Given the description of an element on the screen output the (x, y) to click on. 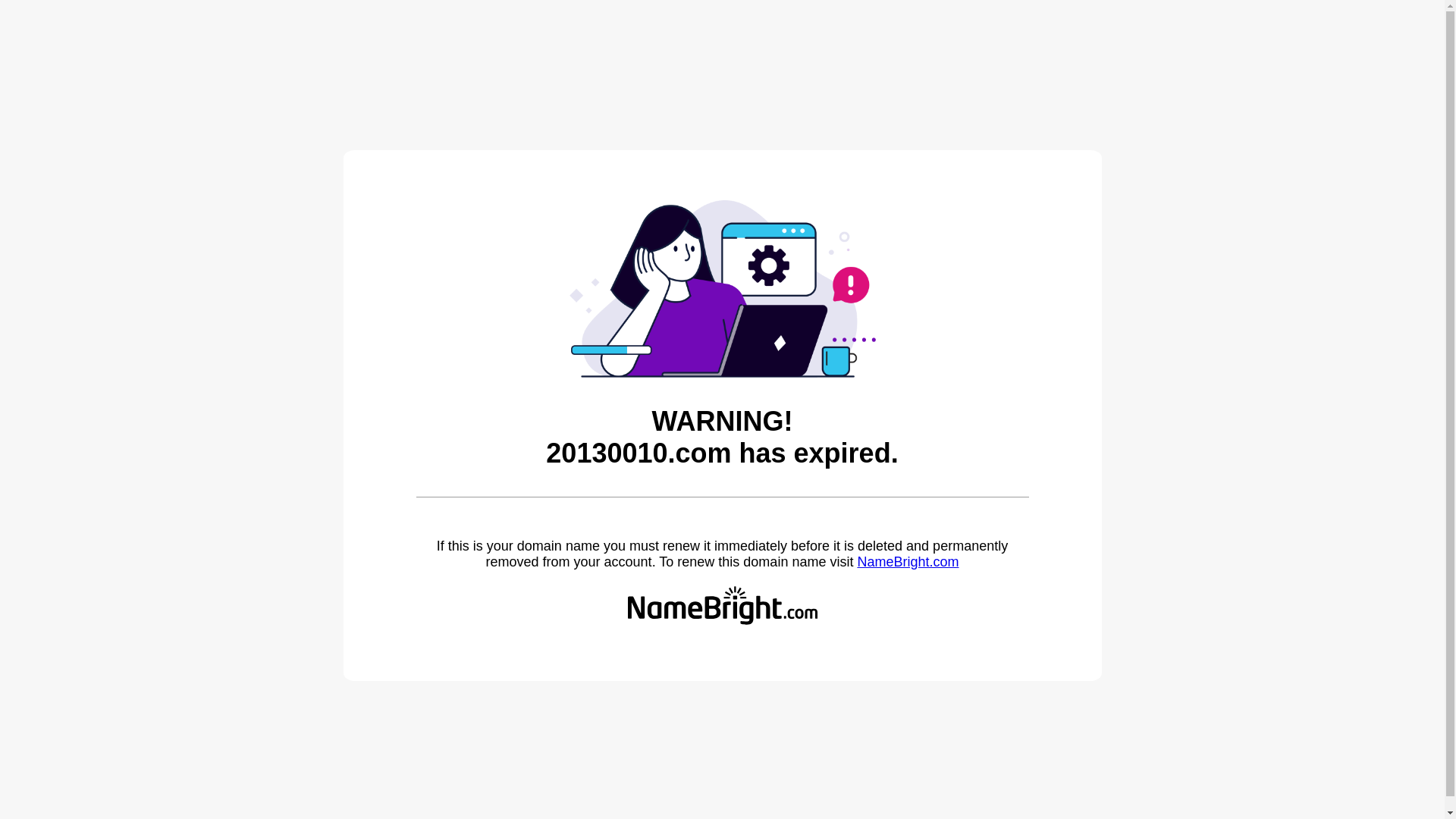
NameBright.com Element type: text (907, 561)
